Given the description of an element on the screen output the (x, y) to click on. 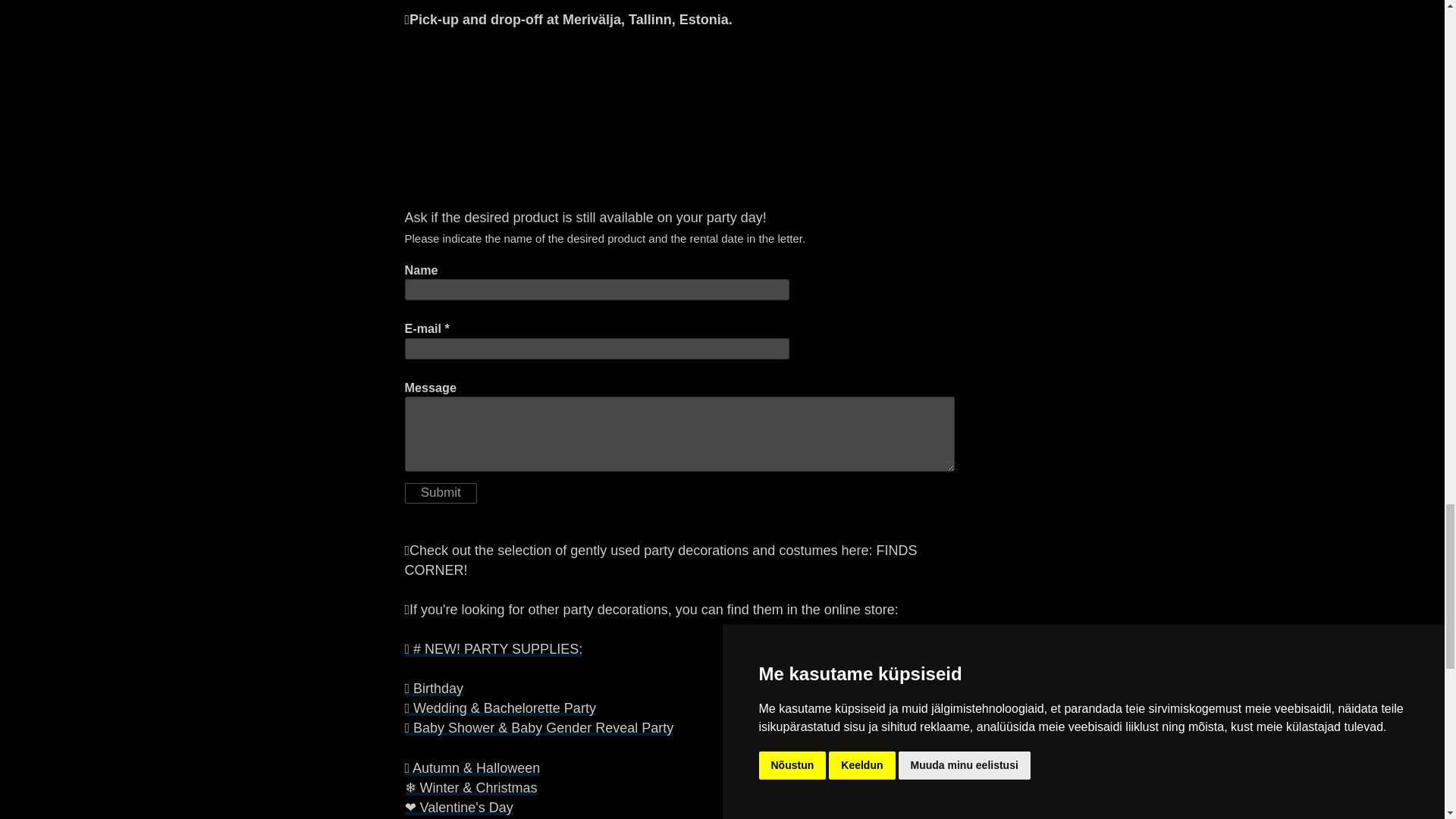
Submit (440, 493)
